Given the description of an element on the screen output the (x, y) to click on. 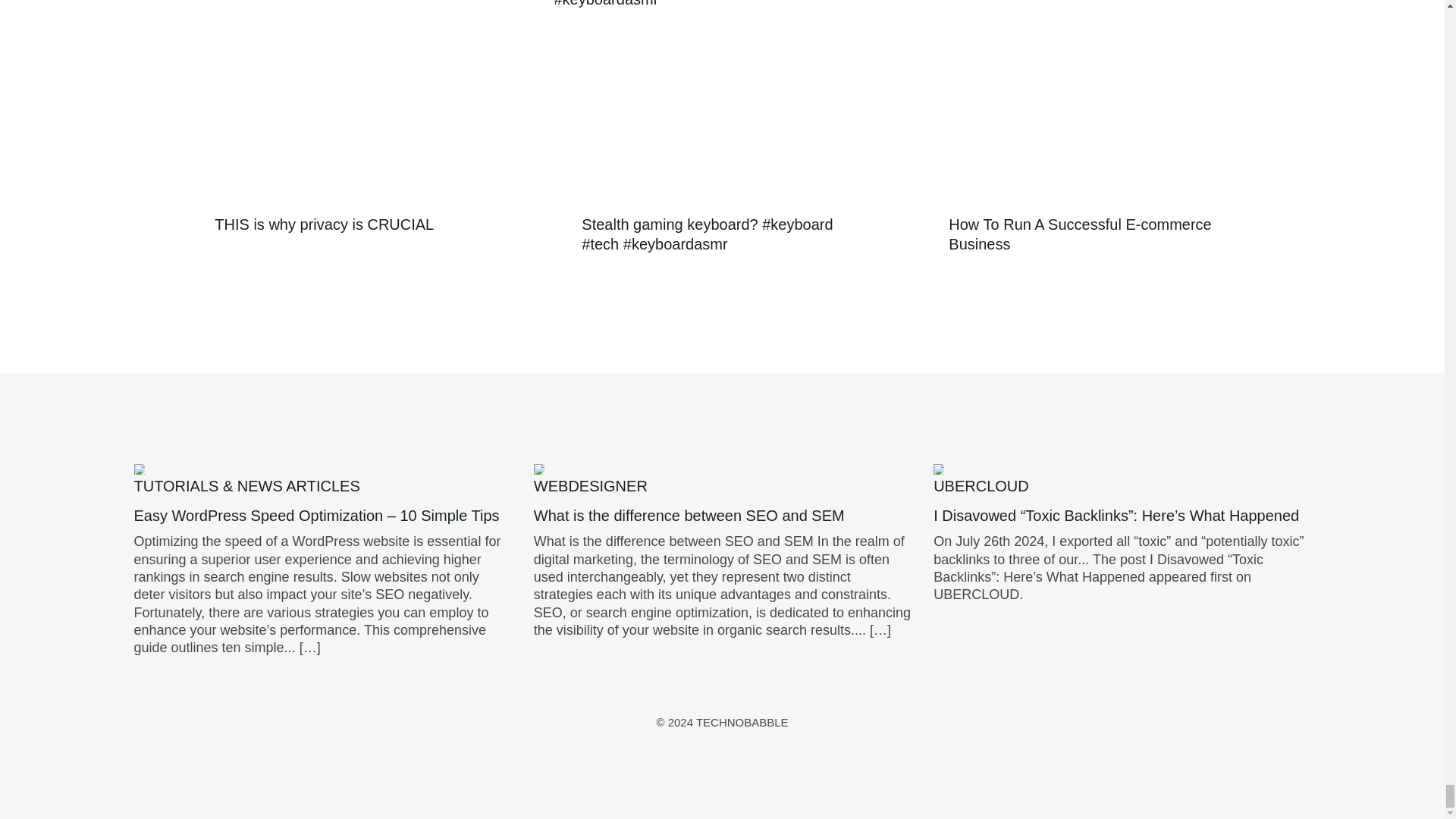
How To Run A Successful E-commerce Business (1080, 234)
THIS is why privacy is CRUCIAL (323, 224)
WEBDESIGNER (590, 485)
What is the difference between SEO and SEM (692, 515)
UBERCLOUD (981, 485)
